Given the description of an element on the screen output the (x, y) to click on. 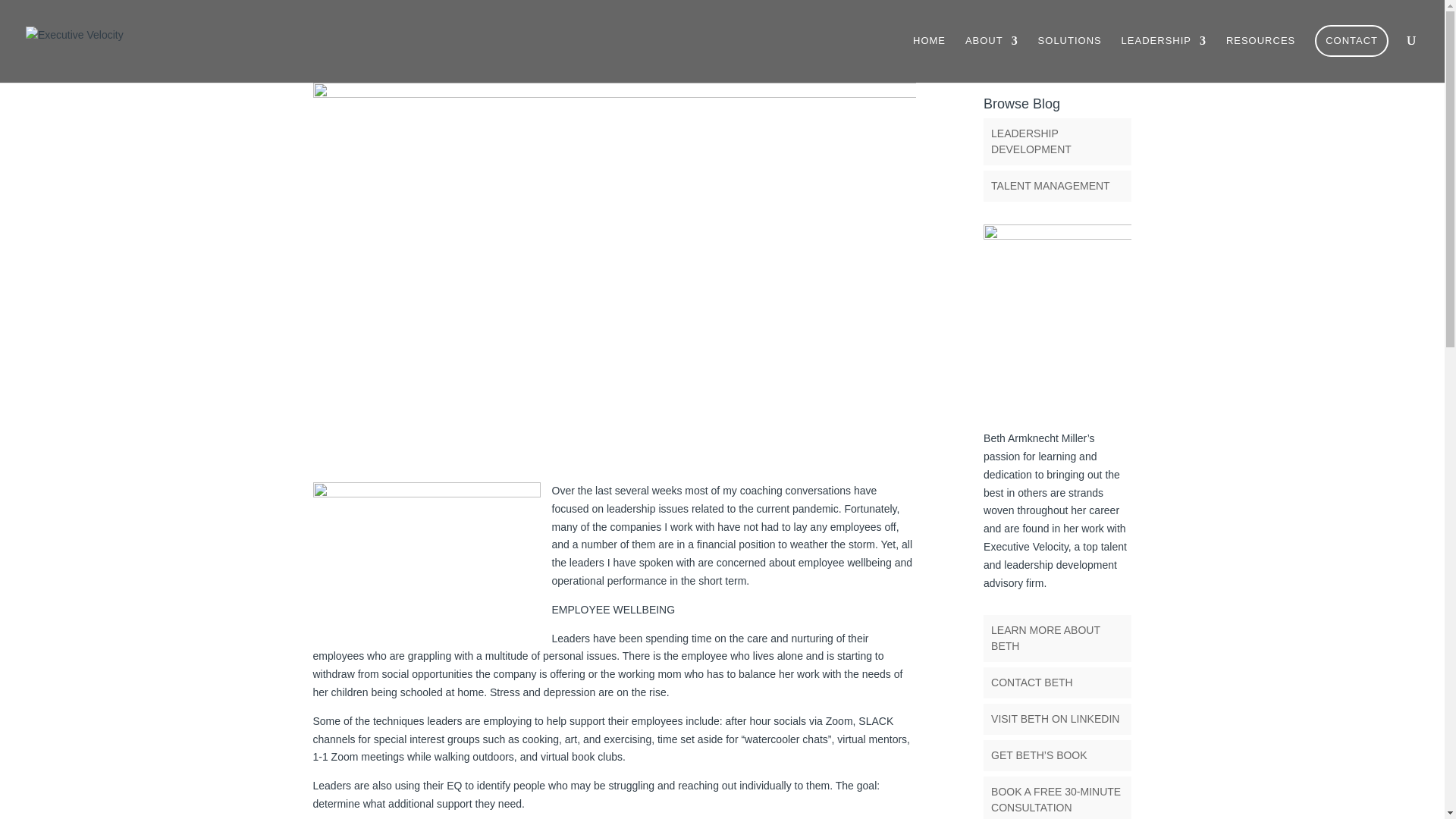
ABOUT (991, 53)
RESOURCES (1260, 53)
LEARN MORE ABOUT BETH (1045, 637)
HOME (928, 53)
Search (1106, 59)
Search (1106, 59)
LEADERSHIP DEVELOPMENT (1031, 141)
TALENT MANAGEMENT (1050, 185)
CONTACT (1351, 40)
CONTACT BETH (1032, 682)
